Given the description of an element on the screen output the (x, y) to click on. 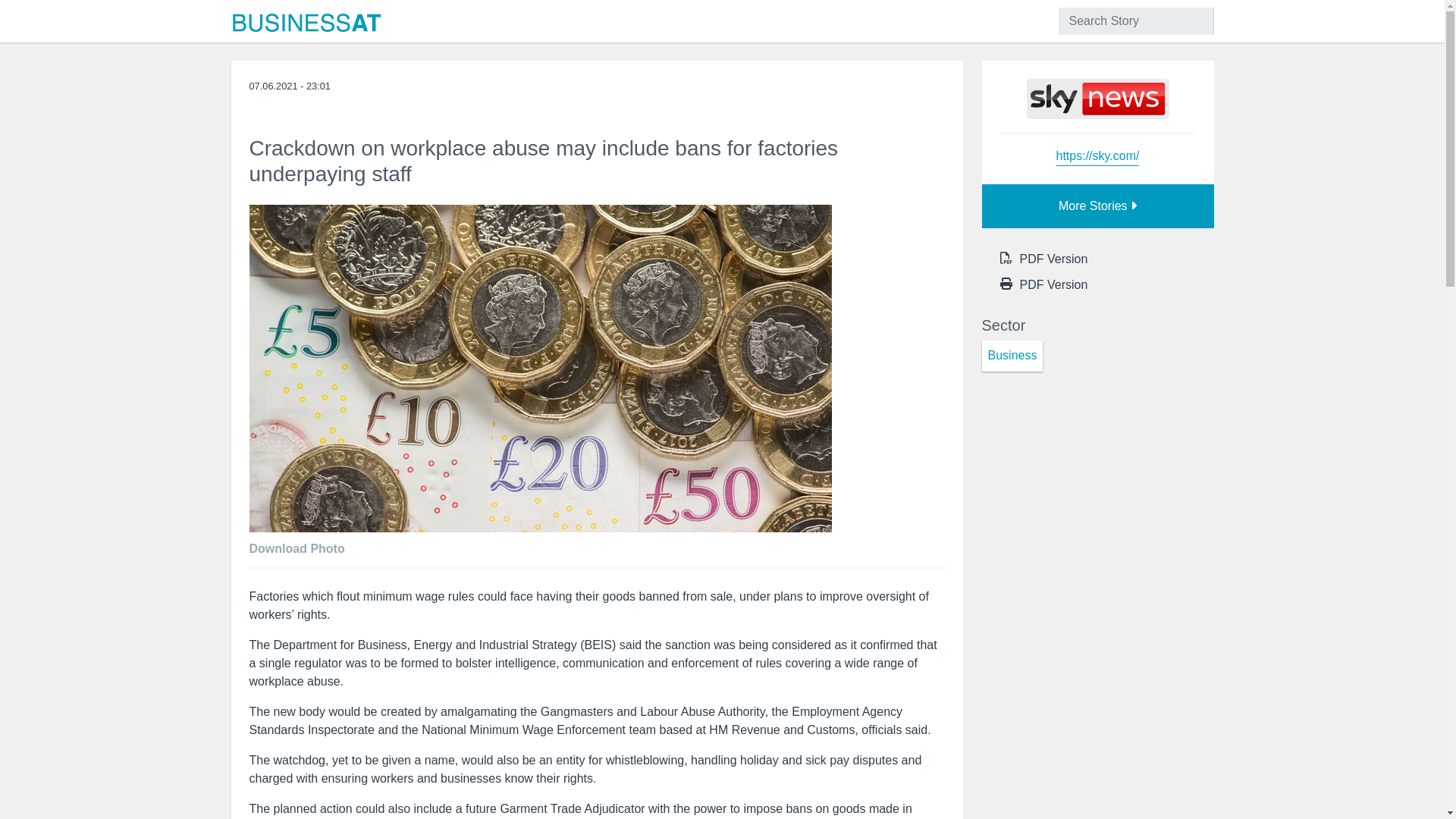
Download Photo (300, 544)
PDF Version (1052, 258)
Business (1011, 355)
PDF Version (1052, 284)
More Stories (1096, 206)
